Given the description of an element on the screen output the (x, y) to click on. 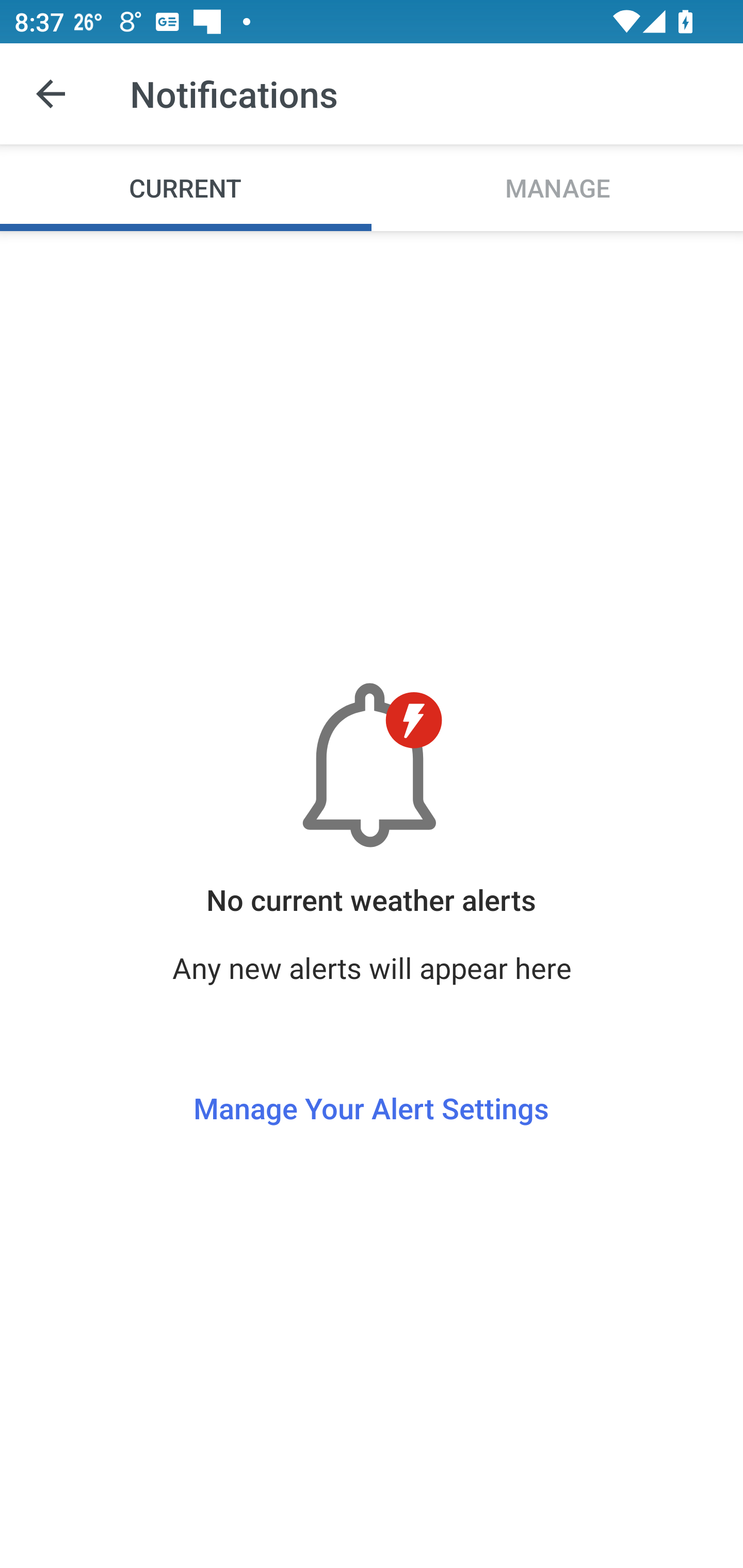
Navigate up (50, 93)
Manage Tab MANAGE (557, 187)
Manage Your Alert Settings (371, 1071)
